Given the description of an element on the screen output the (x, y) to click on. 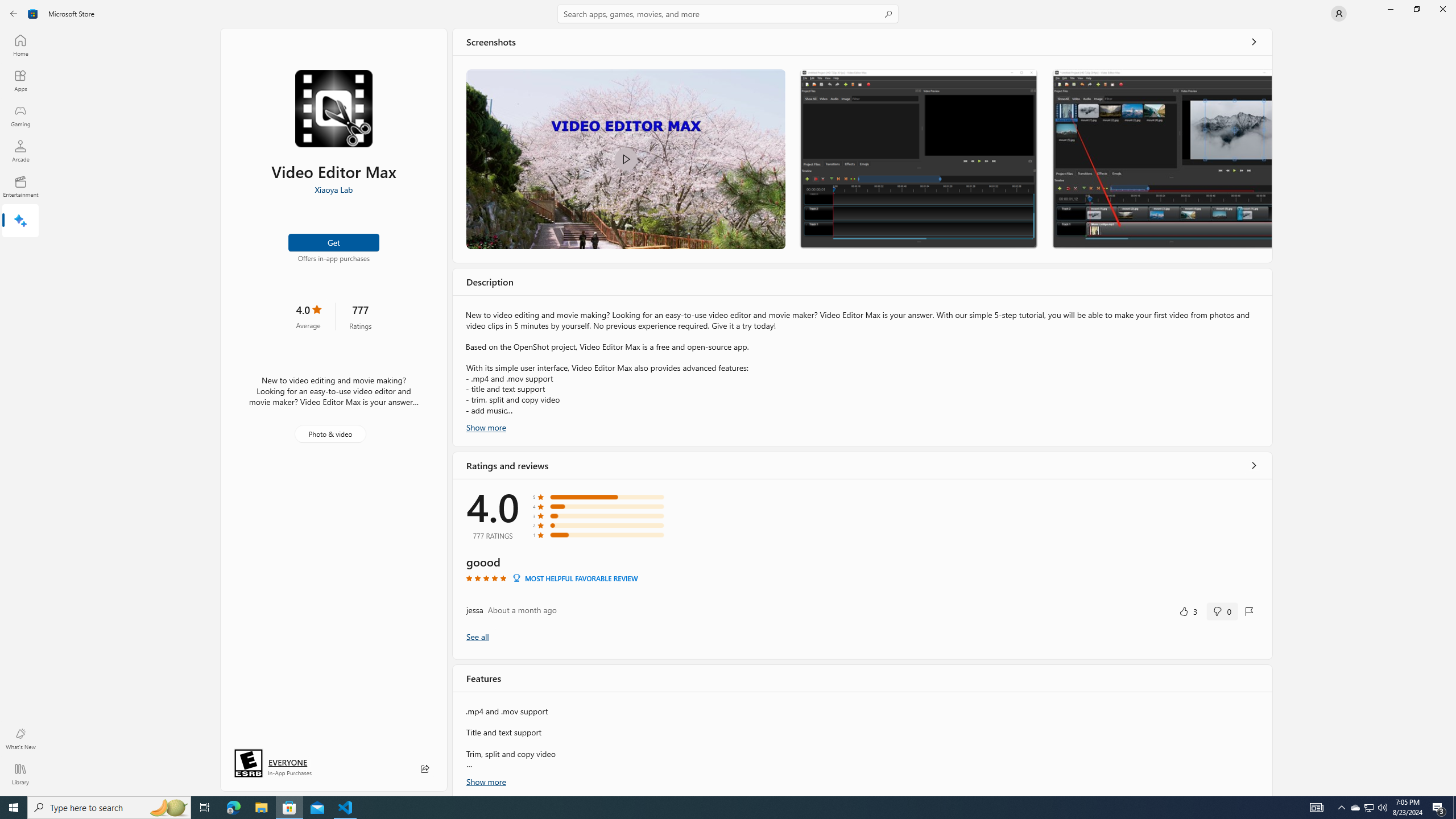
No, this was not helpful. 0 votes. (1222, 610)
See all (1253, 41)
What's New (20, 738)
Yes, this was helpful. 3 votes. (1188, 610)
Restore Microsoft Store (1416, 9)
Show all ratings and reviews (477, 636)
Age rating: EVERYONE. Click for more information. (287, 762)
Share (424, 769)
AI Hub (20, 221)
Search (727, 13)
Library (20, 773)
Arcade (20, 150)
Review by jessa. Rated 5 out of five stars. goood. (861, 586)
AutomationID: NavigationControl (728, 398)
Minimize Microsoft Store (1390, 9)
